Given the description of an element on the screen output the (x, y) to click on. 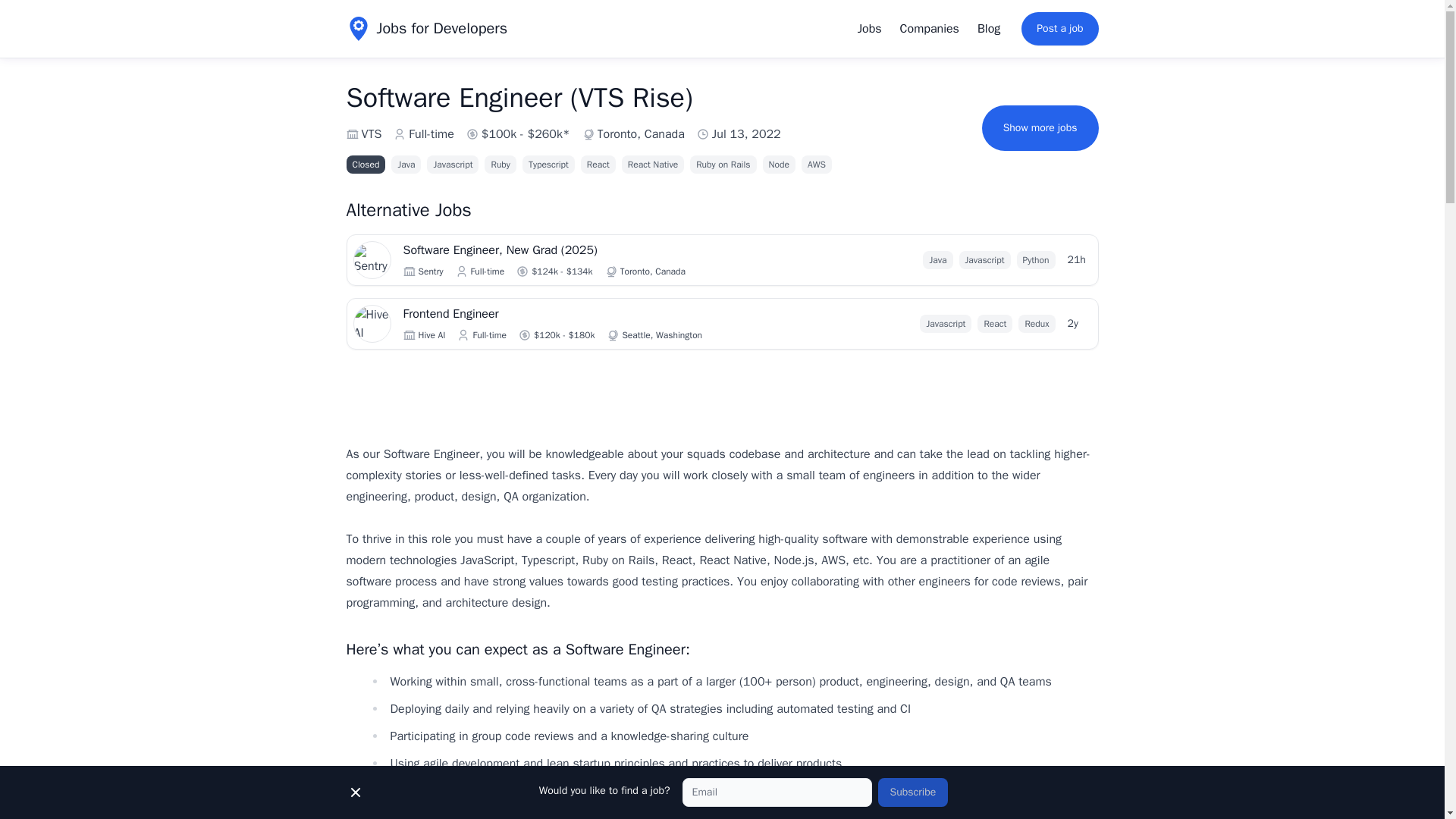
React (597, 164)
Javascript (452, 164)
React (993, 323)
Jobs for Developers (426, 28)
Redux (1035, 323)
Hive AI (432, 335)
Companies (929, 28)
VTS (371, 134)
Javascript (945, 323)
Frontend Engineer (593, 313)
Java (937, 259)
Blog (988, 28)
Javascript (984, 259)
Ruby (499, 164)
Ruby on Rails (722, 164)
